Given the description of an element on the screen output the (x, y) to click on. 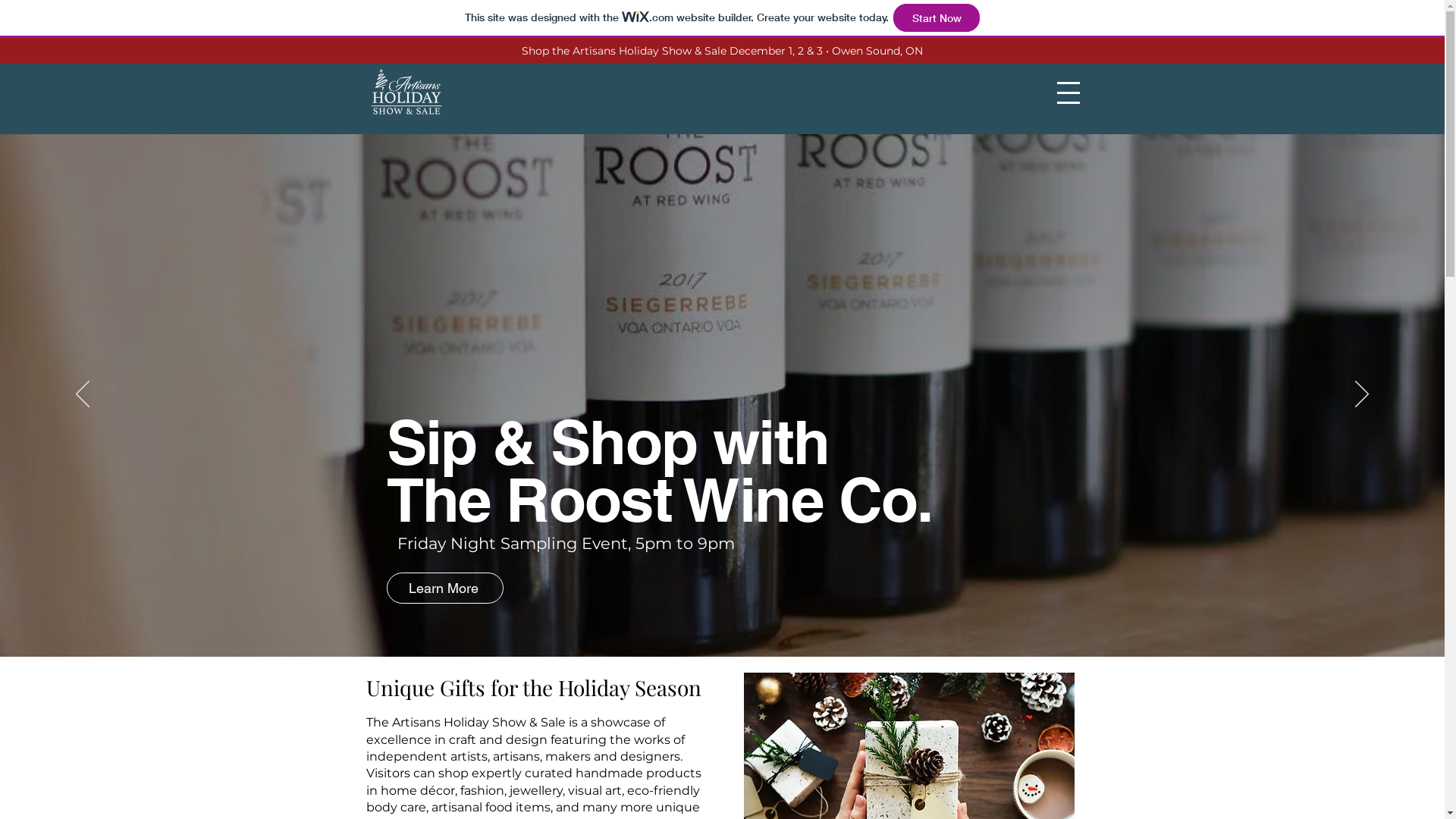
Learn More Element type: text (444, 587)
